Given the description of an element on the screen output the (x, y) to click on. 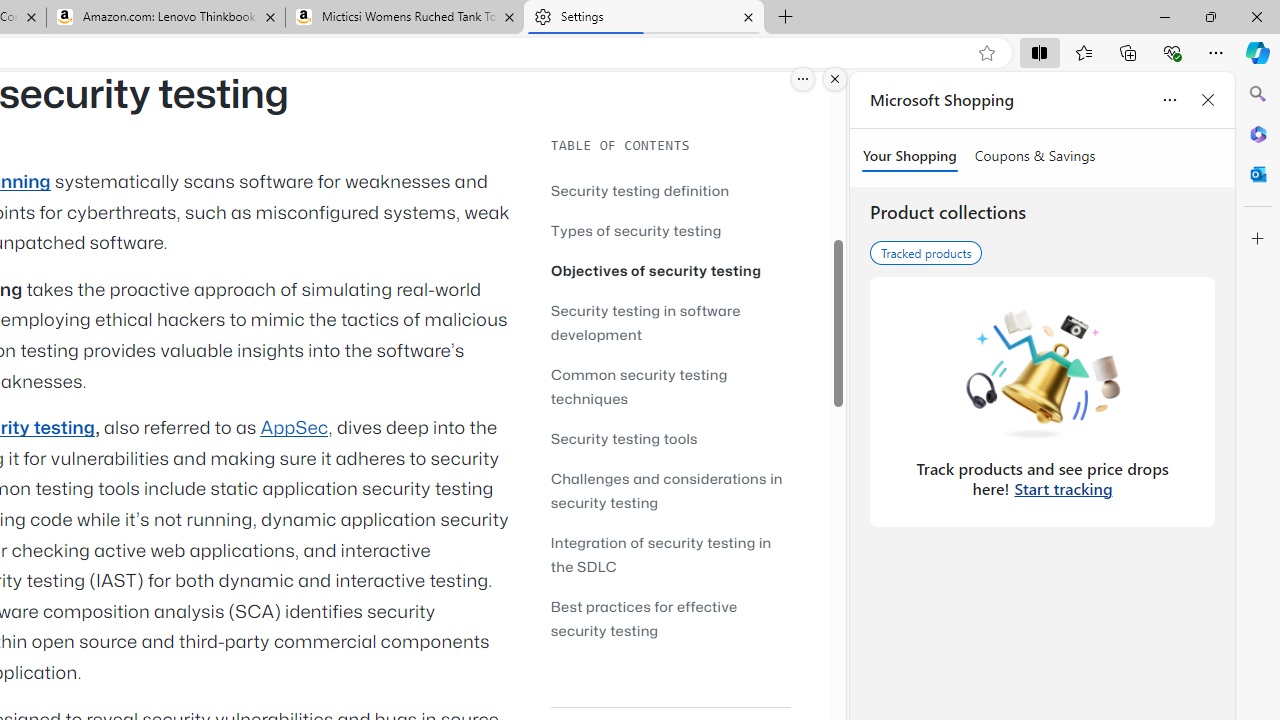
AppSec (293, 428)
Challenges and considerations in security testing (670, 489)
Best practices for effective security testing (644, 618)
Types of security testing (670, 230)
Security testing in software development (645, 321)
Security testing tools (623, 438)
Integration of security testing in the SDLC (670, 553)
Best practices for effective security testing (670, 618)
